Given the description of an element on the screen output the (x, y) to click on. 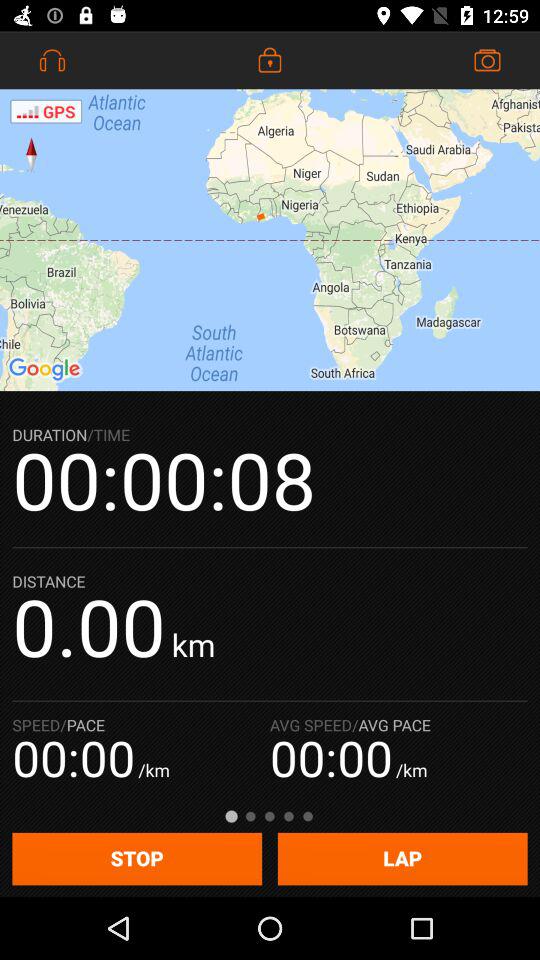
choose the item above the duration/time (270, 240)
